Given the description of an element on the screen output the (x, y) to click on. 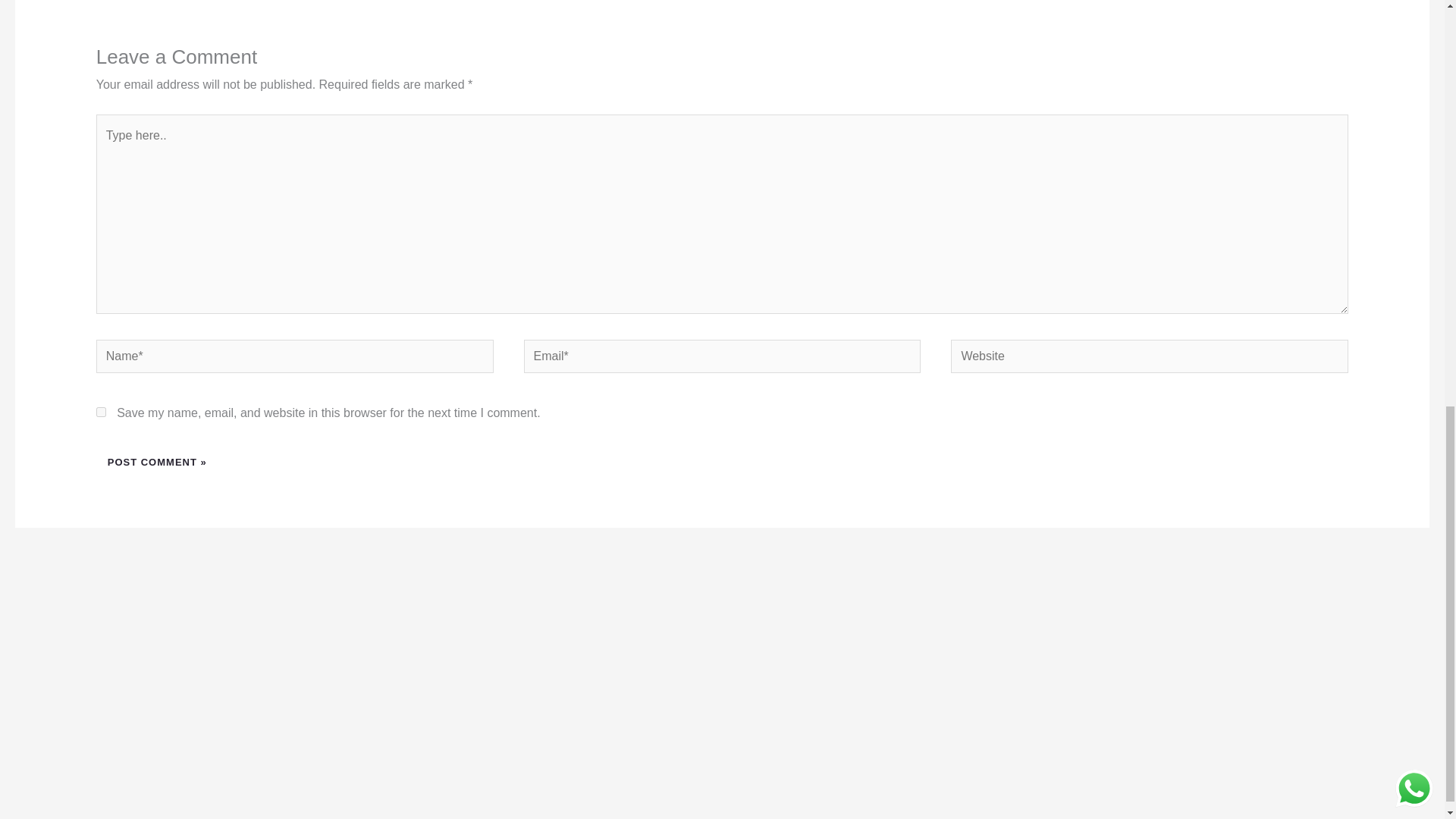
yes (101, 411)
